Given the description of an element on the screen output the (x, y) to click on. 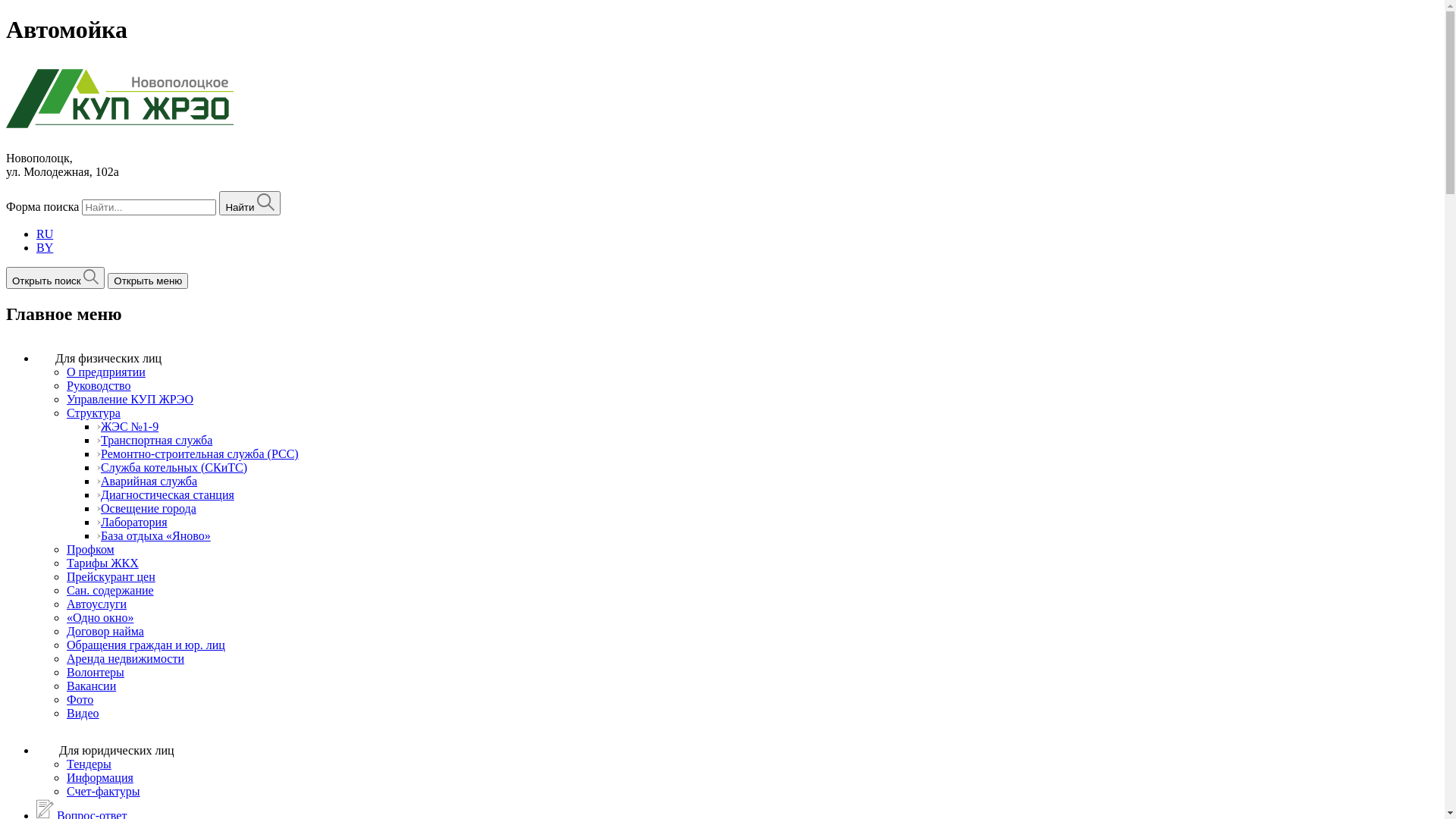
RU Element type: text (44, 233)
BY Element type: text (44, 247)
